Given the description of an element on the screen output the (x, y) to click on. 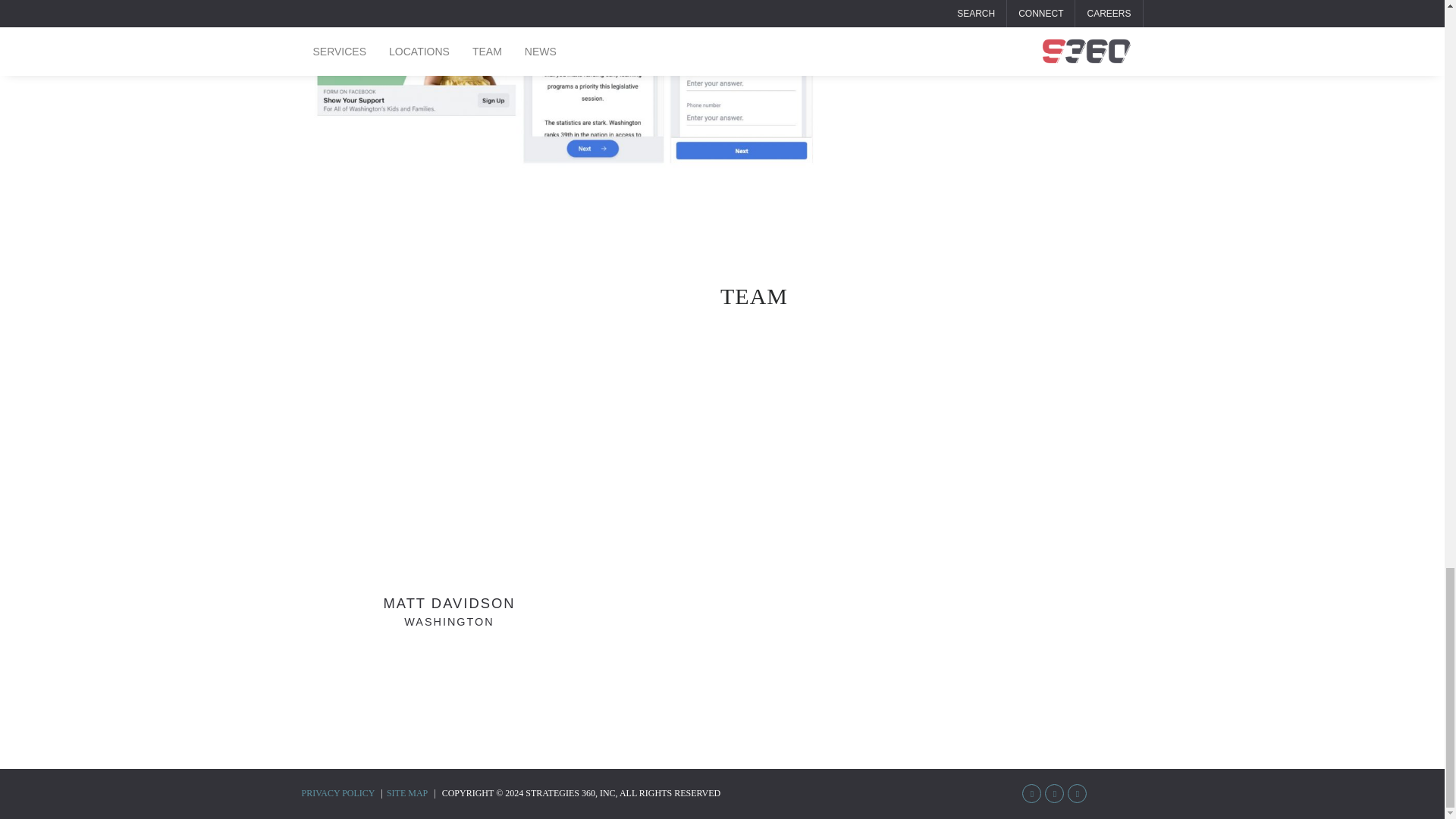
Page 1 (565, 86)
Page 2 (565, 85)
PRIVACY POLICY (338, 793)
Page 3 (449, 523)
Page 3 (565, 85)
Page 2 (565, 85)
SITE MAP (565, 85)
Page 1 (407, 793)
